Given the description of an element on the screen output the (x, y) to click on. 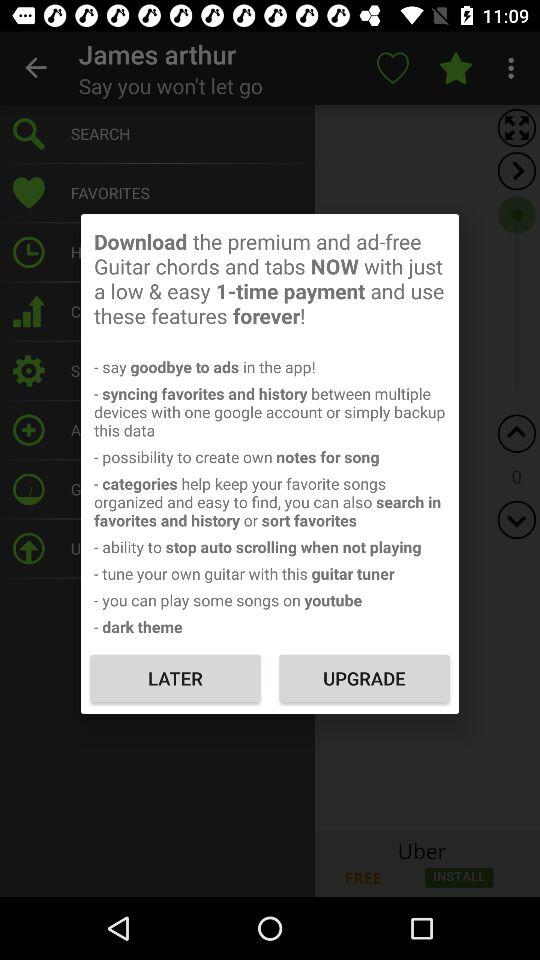
click the upgrade item (364, 677)
